Given the description of an element on the screen output the (x, y) to click on. 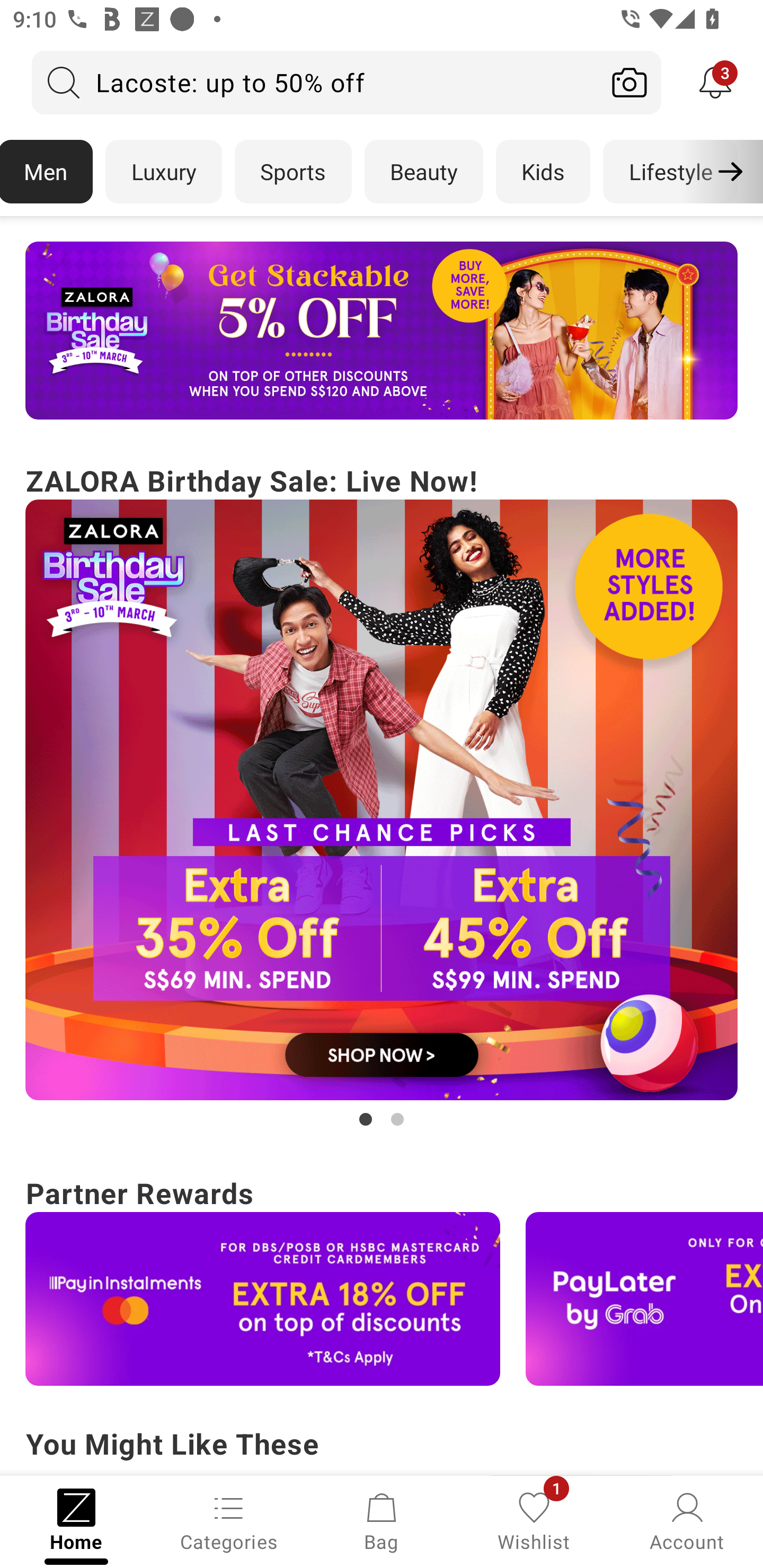
Lacoste: up to 50% off (314, 82)
Men (46, 171)
Luxury (163, 171)
Sports (293, 171)
Beauty (423, 171)
Kids (542, 171)
Lifestyle (669, 171)
Campaign banner (381, 330)
ZALORA Birthday Sale: Live Now! Campaign banner (381, 794)
Campaign banner (381, 800)
Partner Rewards Campaign banner Campaign banner (381, 1277)
Campaign banner (262, 1299)
Campaign banner (644, 1299)
Categories (228, 1519)
Bag (381, 1519)
Wishlist, 1 new notification Wishlist (533, 1519)
Account (686, 1519)
